Given the description of an element on the screen output the (x, y) to click on. 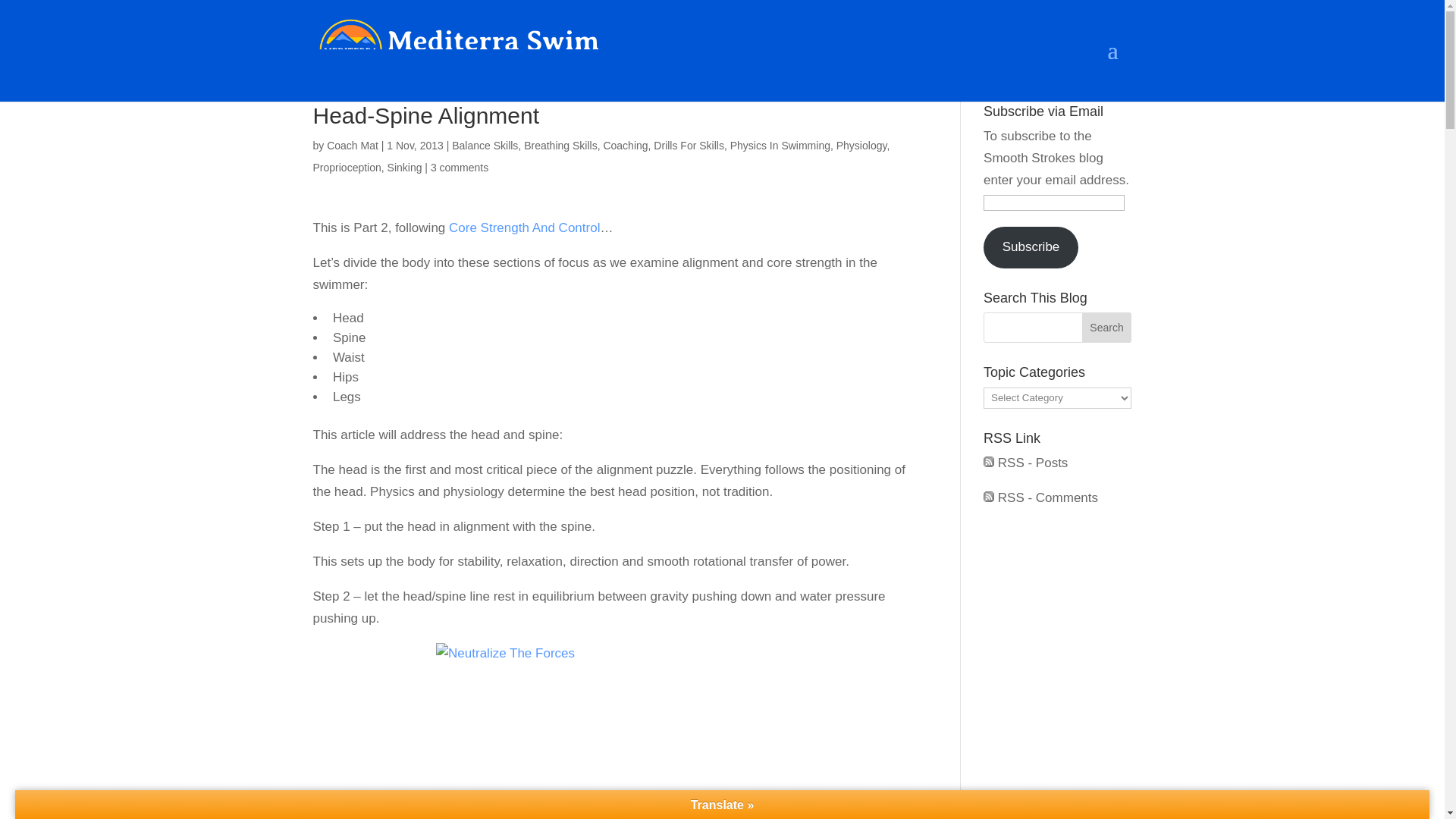
Posts by Coach Mat (352, 145)
Coaching (624, 145)
Sinking (404, 167)
 RSS - Comments (1040, 497)
Search (1106, 327)
3 comments (458, 167)
 RSS - Posts (1025, 462)
Search (1106, 327)
Core Strength And Control (523, 227)
Physiology (860, 145)
Balance Skills (484, 145)
Physics In Swimming (779, 145)
Drills For Skills (688, 145)
Subscribe (1031, 247)
Subscribe to comments (1040, 497)
